Given the description of an element on the screen output the (x, y) to click on. 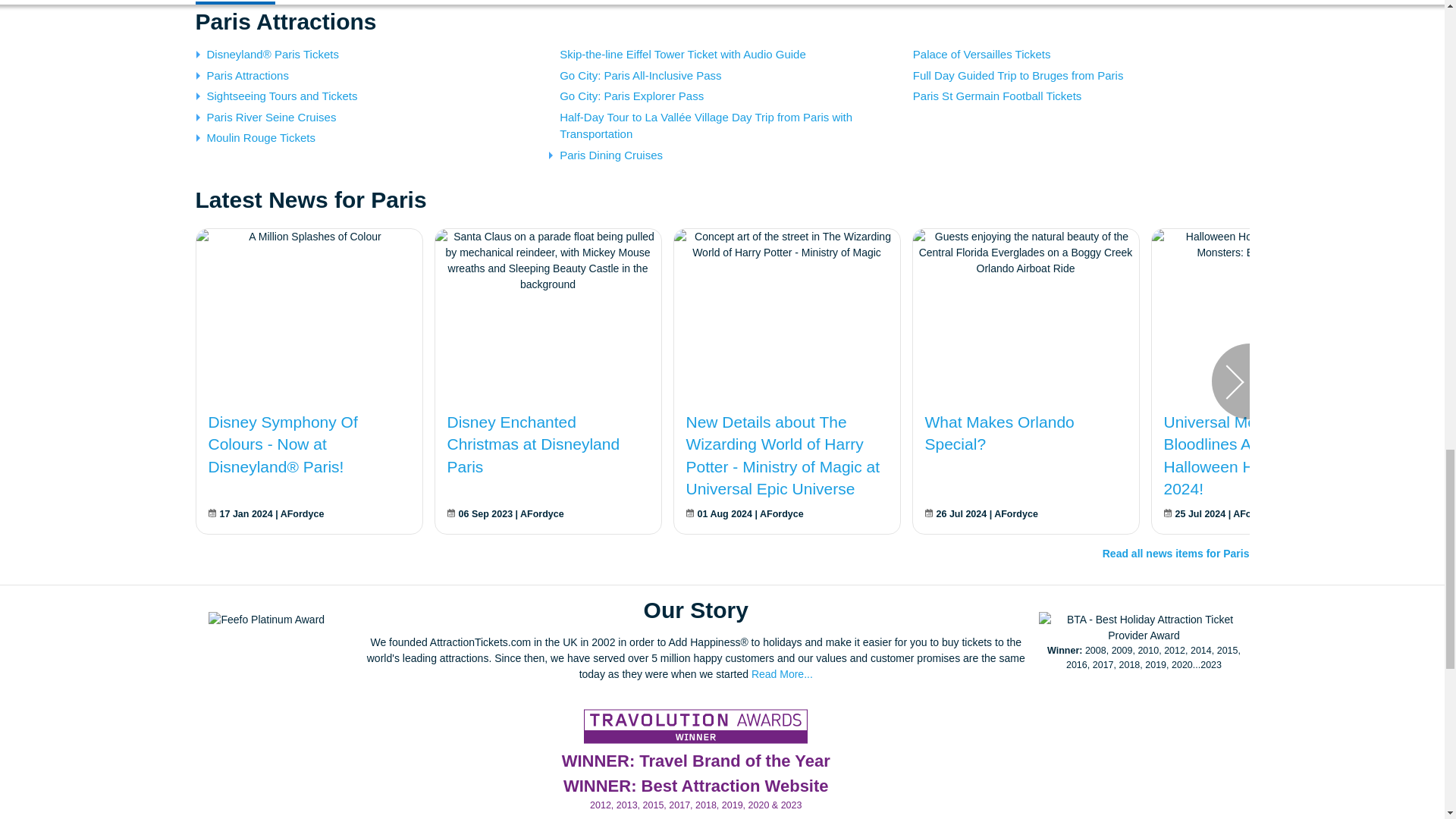
Santa Claus at Disney Enchanted Christmas (548, 260)
The Wizarding World of Harry Potter - Ministry of Magic (785, 245)
